Given the description of an element on the screen output the (x, y) to click on. 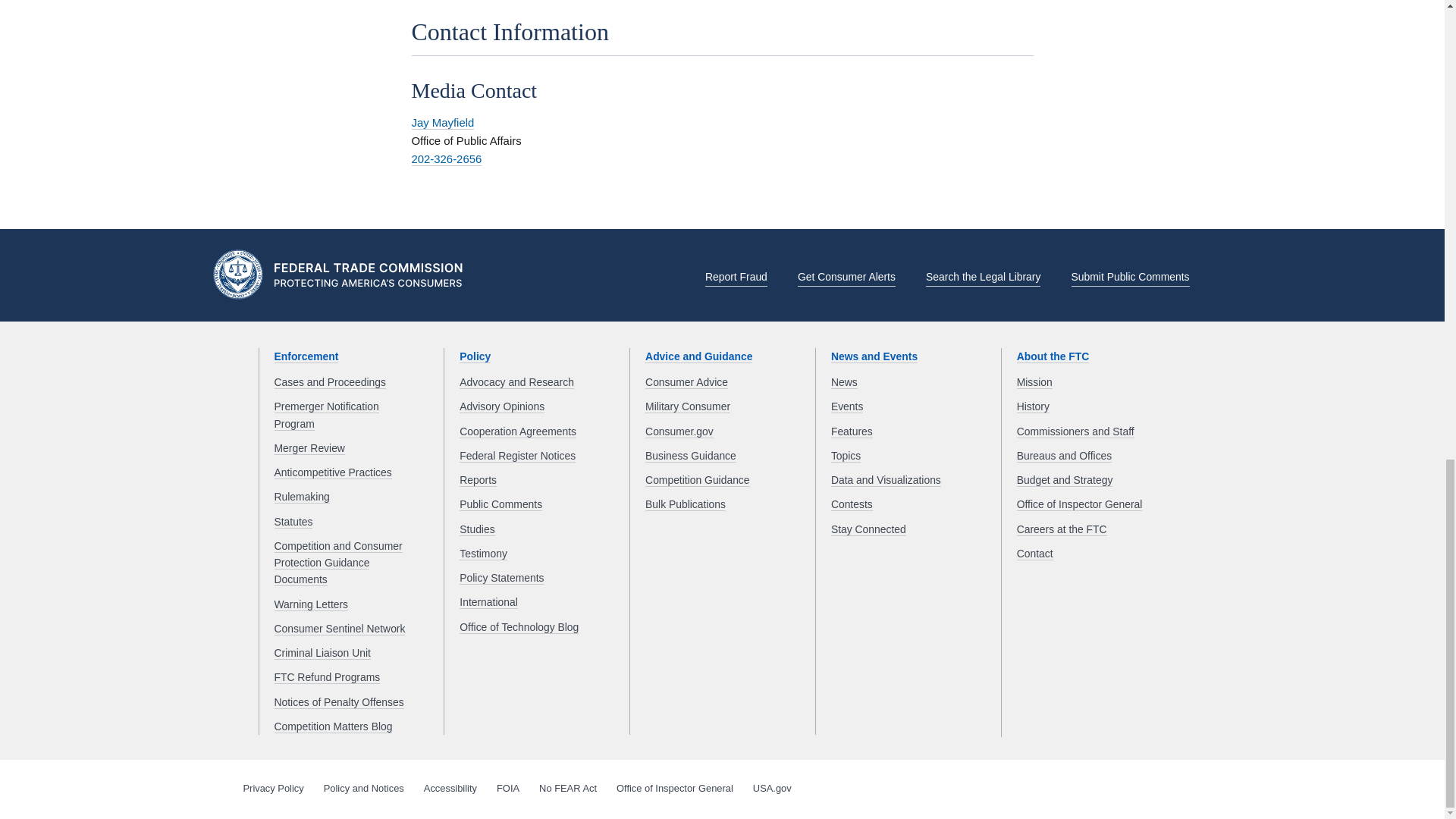
Home (343, 276)
